Given the description of an element on the screen output the (x, y) to click on. 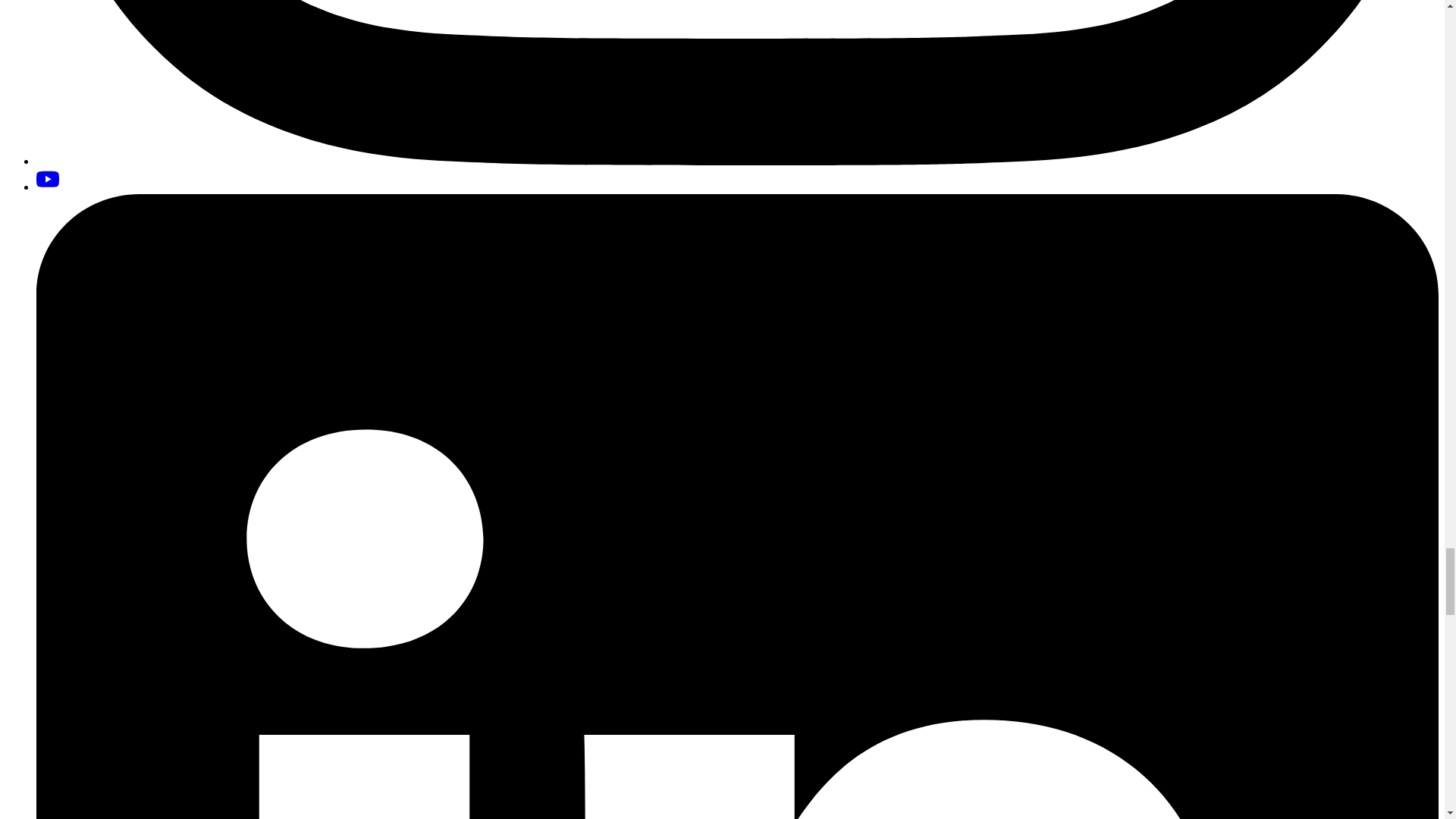
YouTube (47, 179)
